Given the description of an element on the screen output the (x, y) to click on. 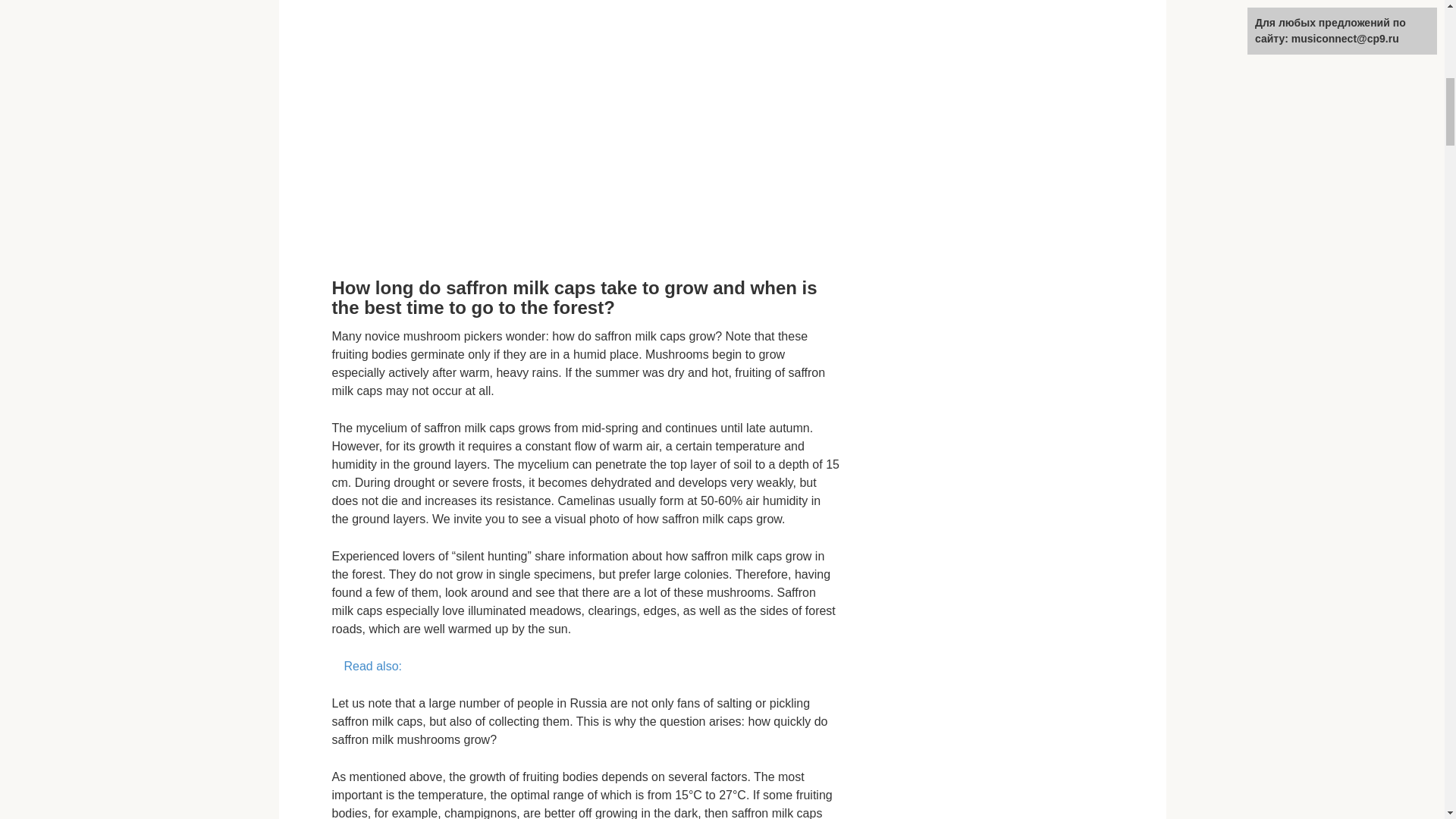
Read also:  (585, 666)
